Given the description of an element on the screen output the (x, y) to click on. 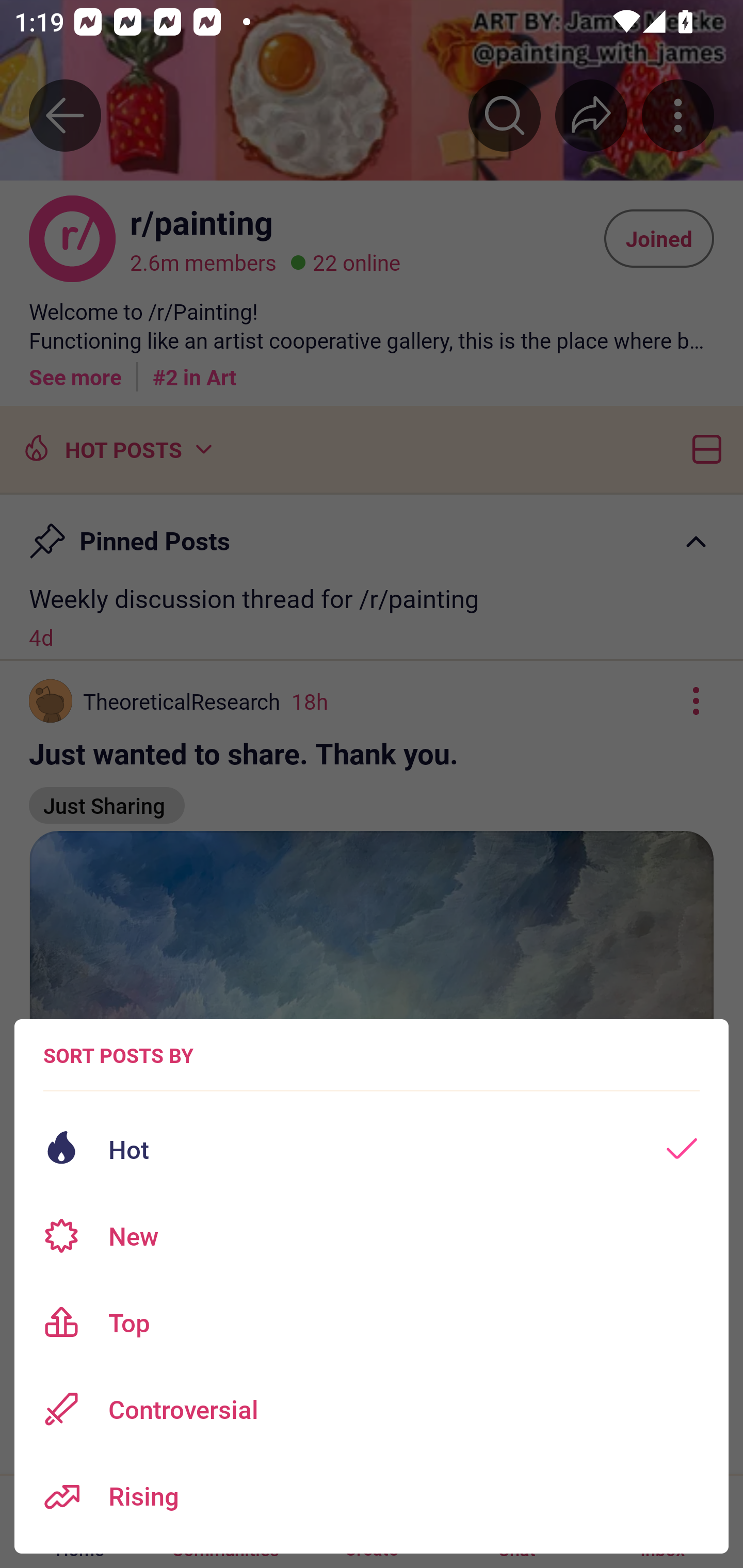
SORT POSTS BY Sort posts options (118, 1055)
Hot (371, 1149)
New (371, 1236)
Top (371, 1322)
Controversial (371, 1408)
Rising (371, 1495)
